Given the description of an element on the screen output the (x, y) to click on. 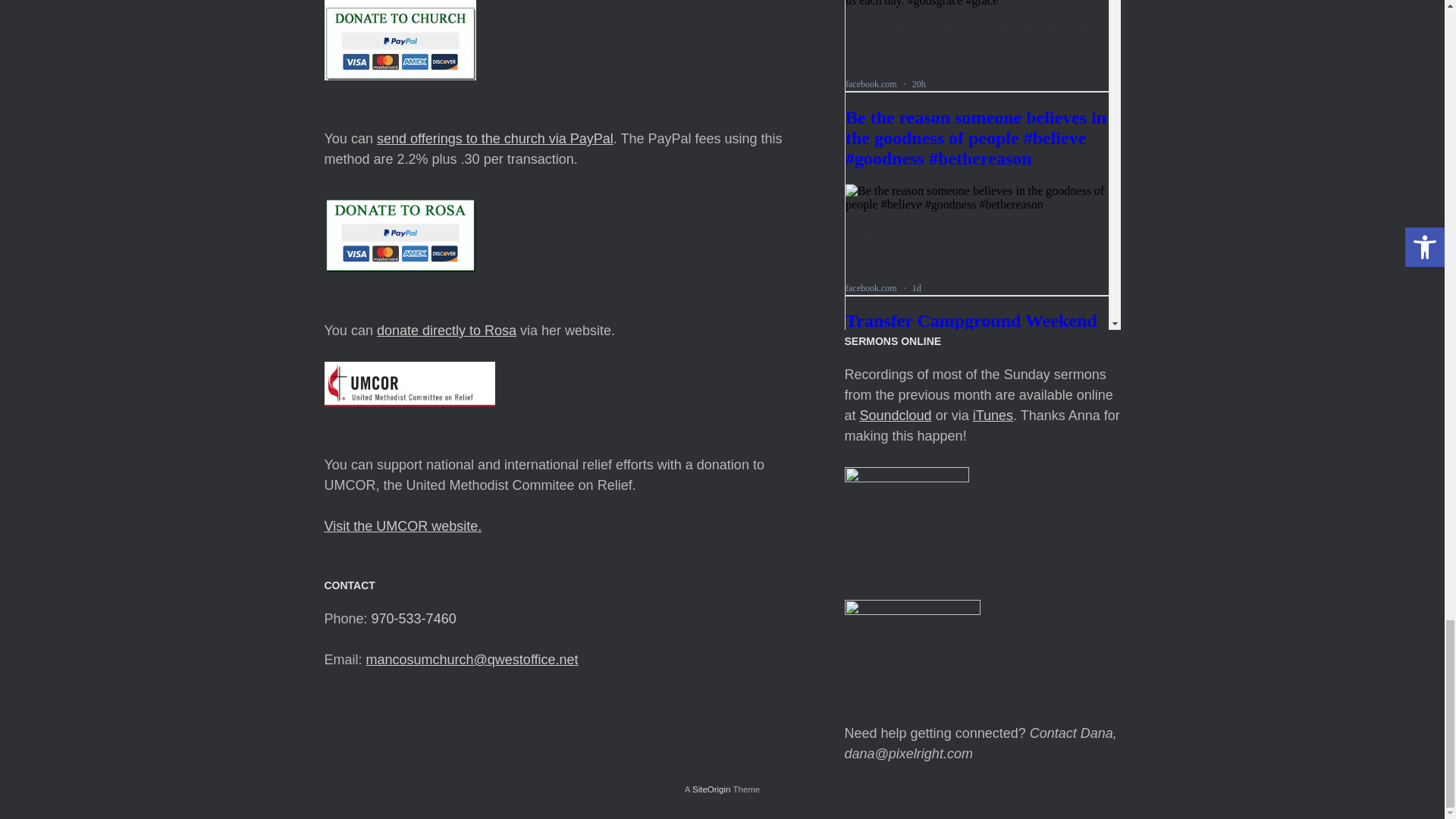
donate directly to Rosa (446, 330)
send offerings to the church via PayPal (494, 138)
Soundcloud (895, 415)
Visit the UMCOR website. (402, 525)
iTunes (992, 415)
SiteOrigin (711, 788)
970-533-7460 (414, 618)
